Given the description of an element on the screen output the (x, y) to click on. 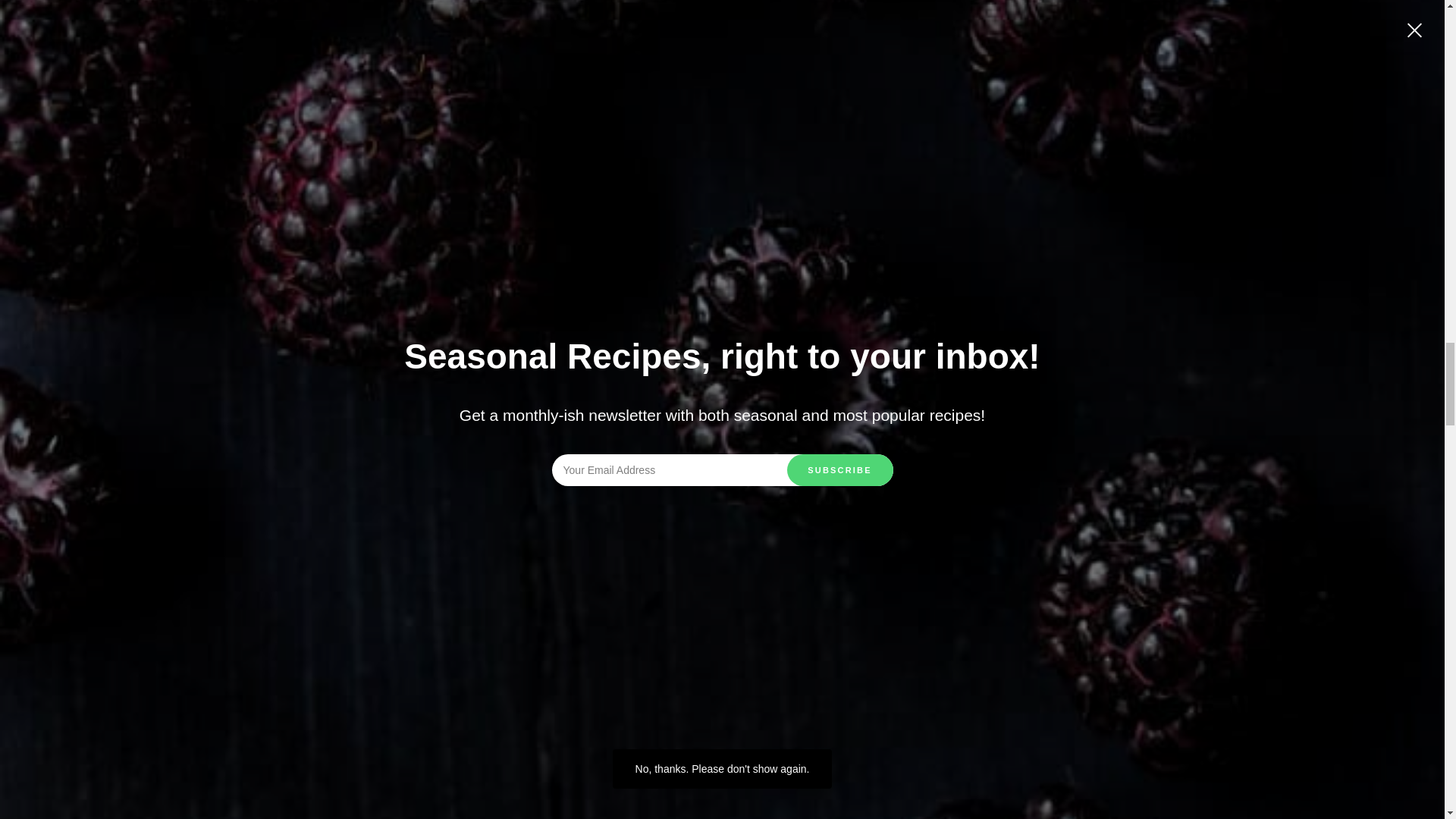
1x (241, 13)
2x (268, 13)
3x (298, 13)
